Given the description of an element on the screen output the (x, y) to click on. 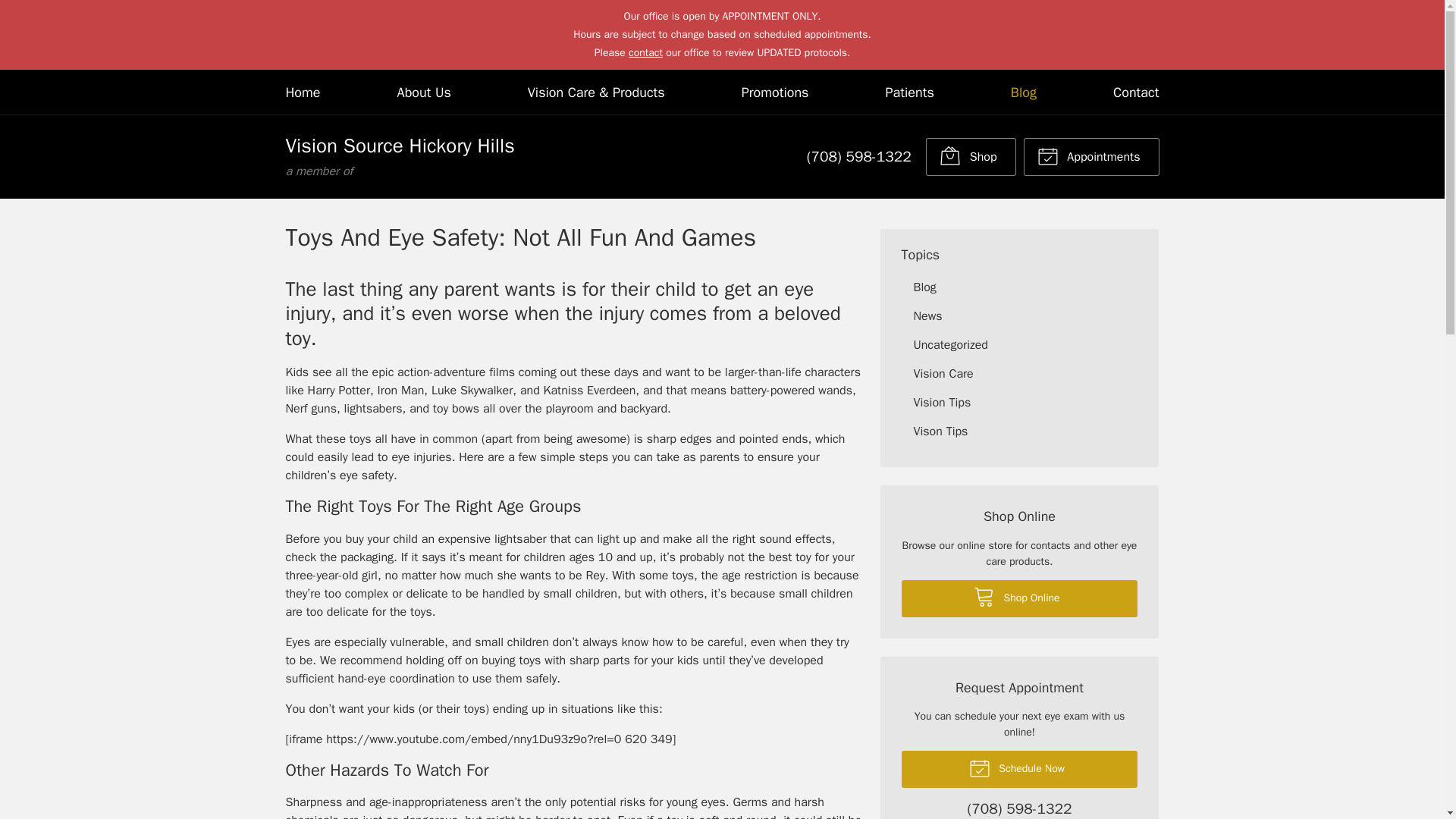
Shop Online (971, 157)
Request Appointment (1090, 157)
Vision Source Hickory Hills (399, 156)
Schedule Now (1019, 769)
Appointments (1090, 157)
Shop (971, 157)
Call practice (858, 157)
Home (302, 91)
Promotions (775, 91)
contact (399, 156)
About Us (645, 51)
Shop Online (424, 91)
Patients (1019, 598)
Contact (909, 91)
